Given the description of an element on the screen output the (x, y) to click on. 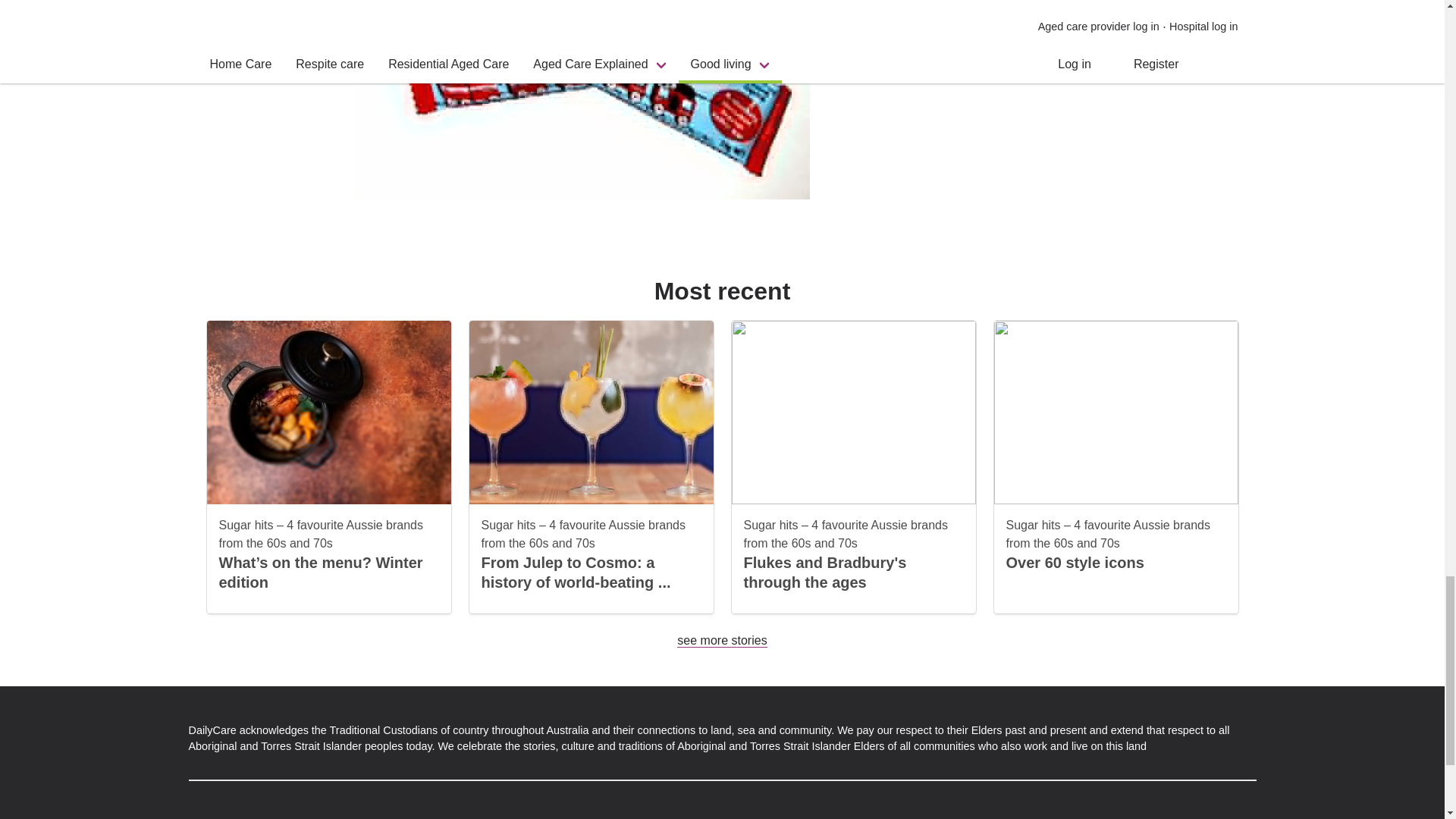
Over 60 style icons (1074, 562)
Flukes and Bradbury's through the ages (823, 572)
From Julep to Cosmo: a history of world-beating ... (574, 572)
From Julep to Cosmo: a history of world-beating cocktails (574, 572)
Flukes and Bradbury's through the ages (823, 572)
